Given the description of an element on the screen output the (x, y) to click on. 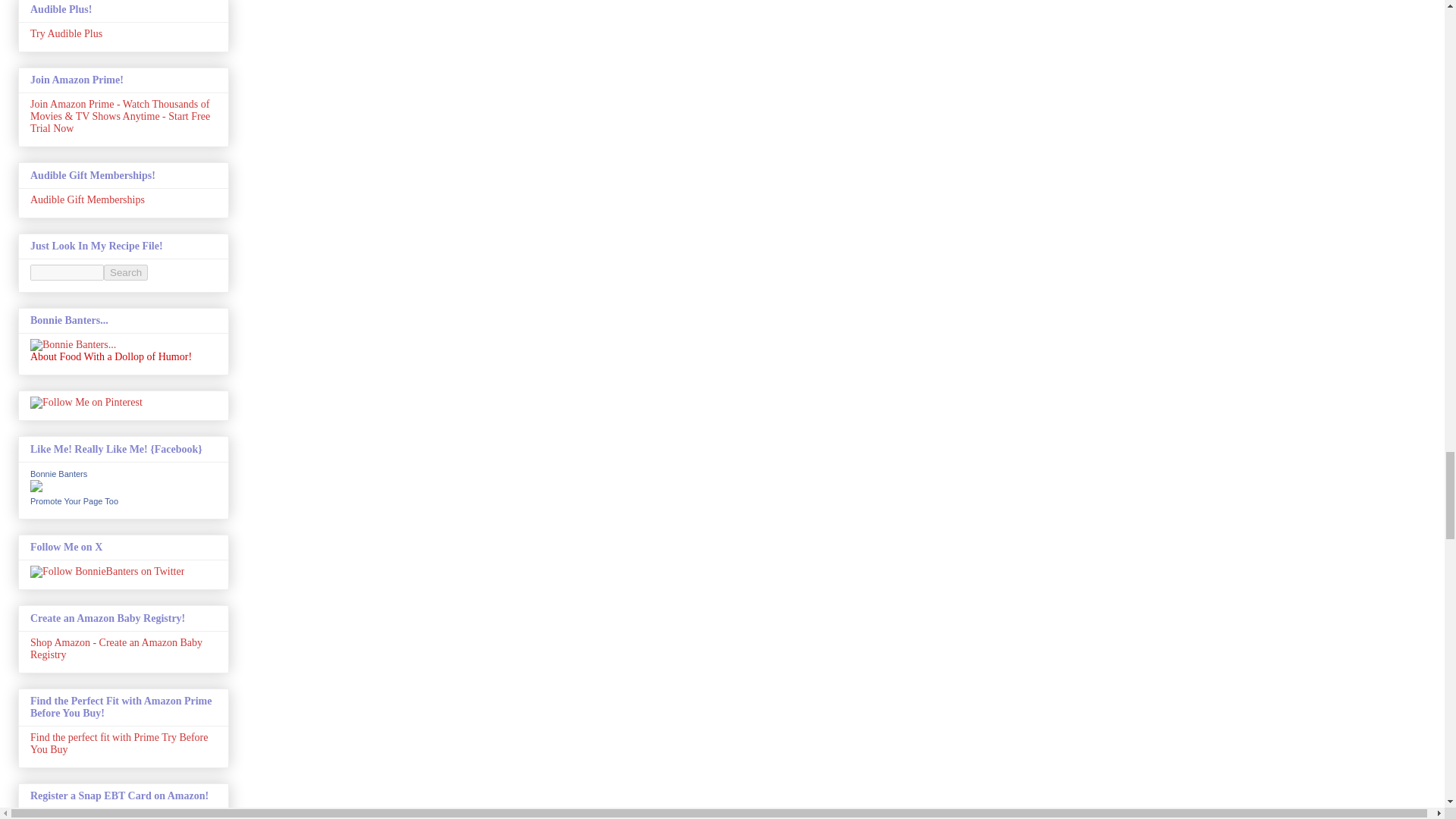
Bonnie Banters (58, 473)
Search (125, 272)
search (66, 272)
Make your own badge! (73, 501)
search (125, 272)
Search (125, 272)
Bonnie Banters (36, 488)
